Given the description of an element on the screen output the (x, y) to click on. 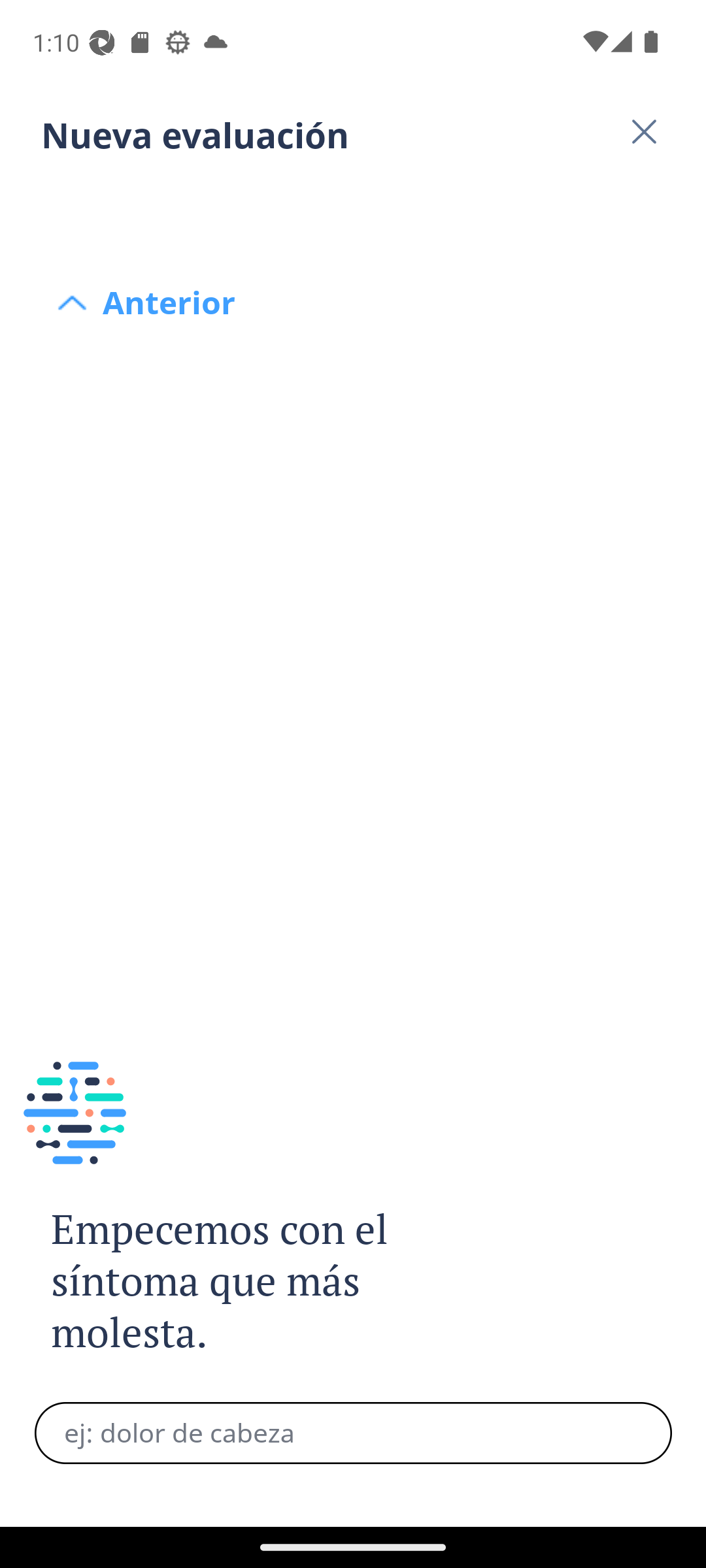
undo Anterior (353, 203)
Empecemos con el síntoma que más molesta. (240, 1281)
ej: dolor de cabeza (353, 1432)
